Given the description of an element on the screen output the (x, y) to click on. 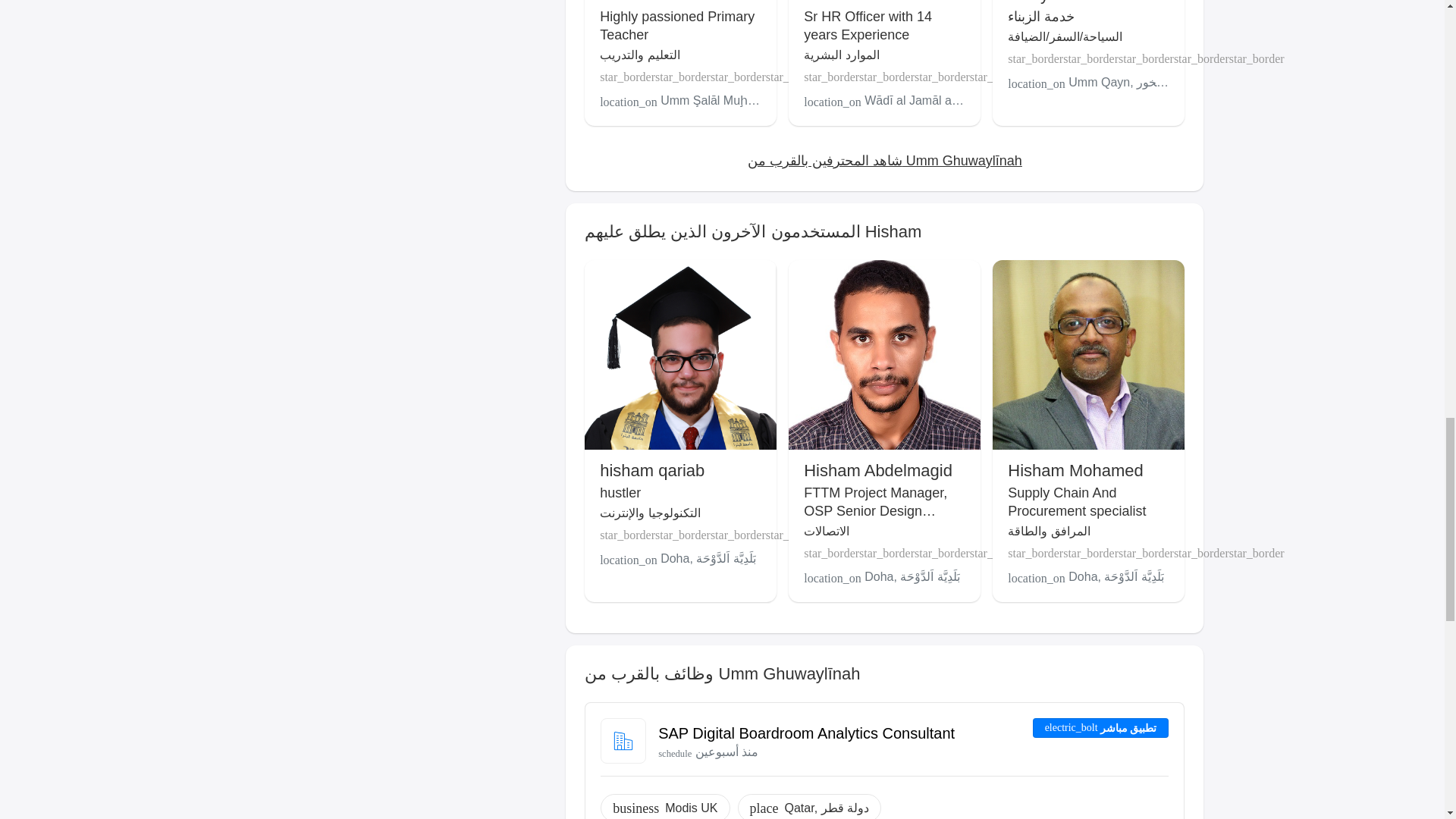
Modis UK (691, 808)
hisham qariab (651, 470)
Shaheera PK (648, 2)
Hisham Mohamed (1074, 470)
Lamyae YANNA (1066, 2)
SAP Digital Boardroom Analytics Consultant (806, 733)
hisham qariab (651, 470)
Hisham Mohamed (1074, 470)
smirnoff sadanand (871, 2)
Hisham Abdelmagid (877, 470)
